Given the description of an element on the screen output the (x, y) to click on. 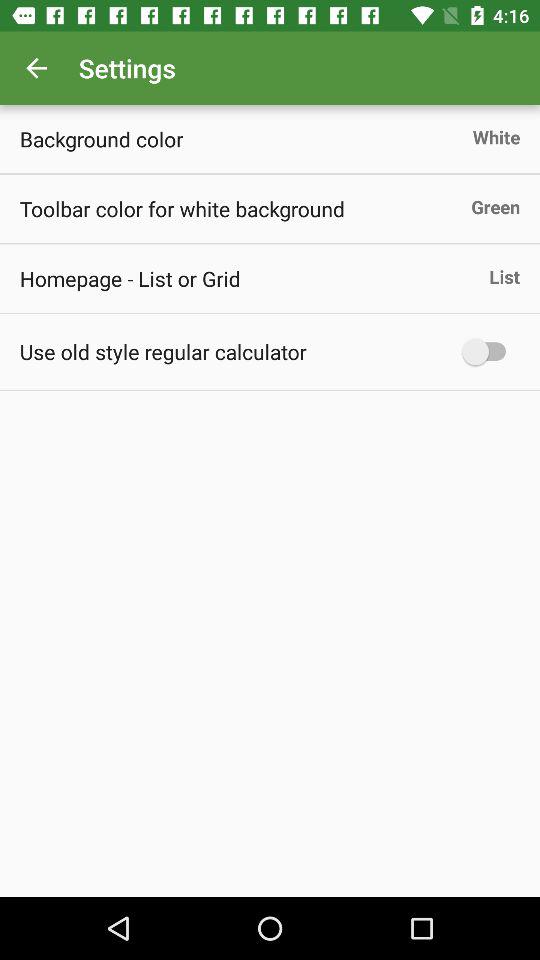
launch the homepage list or item (129, 278)
